Given the description of an element on the screen output the (x, y) to click on. 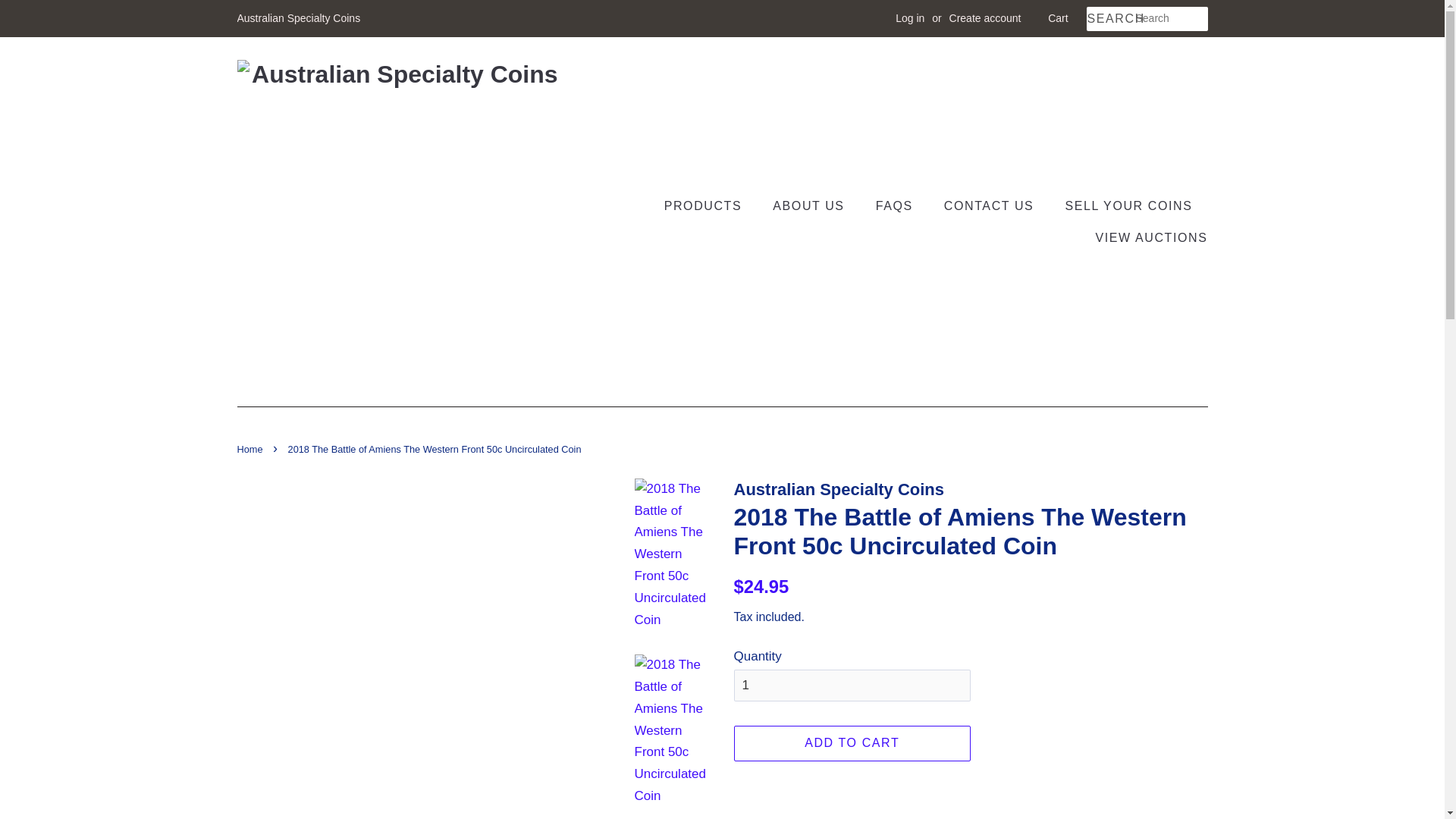
1 (852, 685)
Cart (1057, 18)
Create account (985, 18)
SEARCH (1110, 18)
Back to the frontpage (250, 449)
PRODUCTS (710, 205)
Australian Specialty Coins (297, 18)
Log in (909, 18)
